Given the description of an element on the screen output the (x, y) to click on. 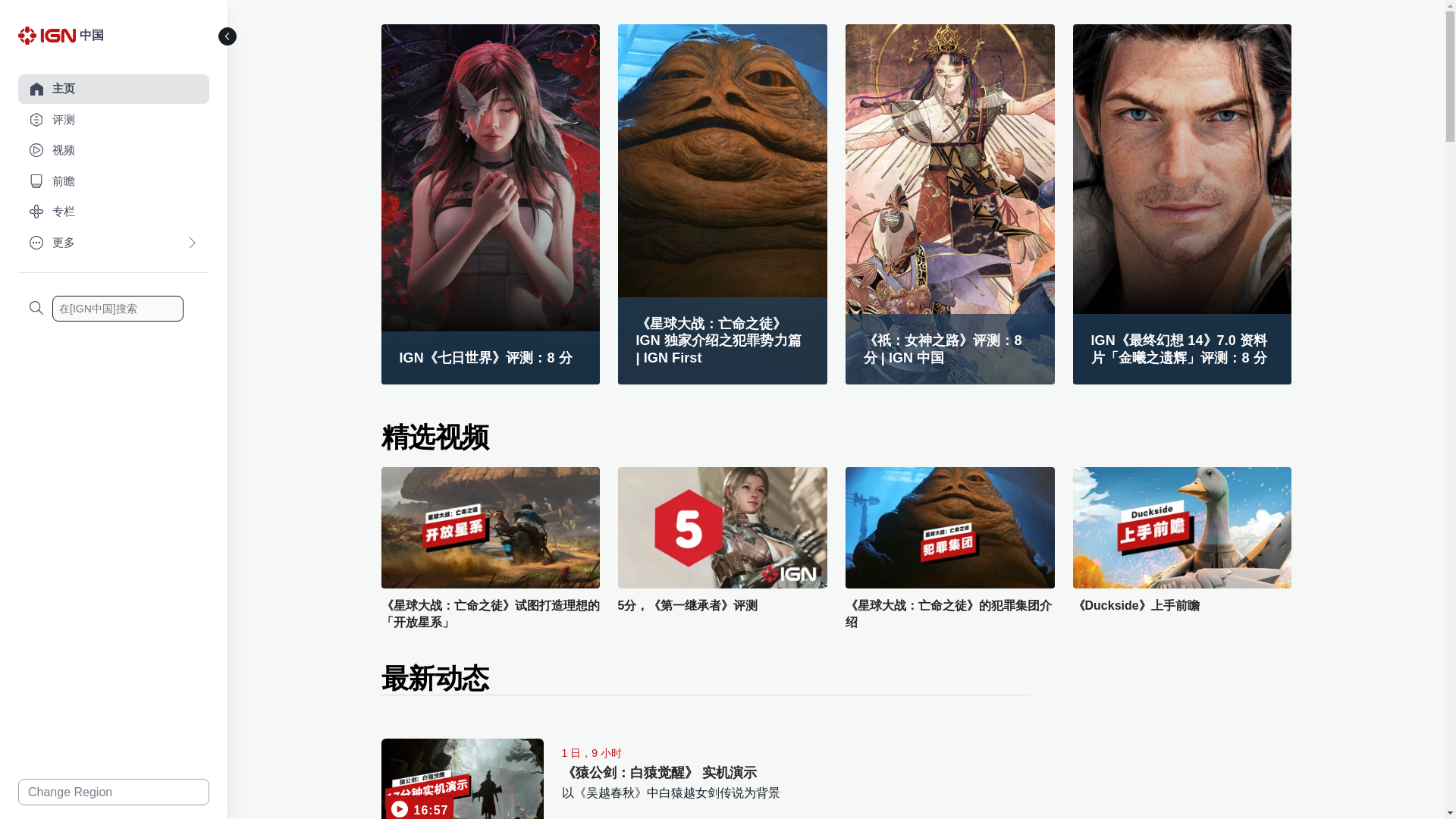
IGN Logo (48, 39)
IGN Logo (46, 34)
Toggle Sidebar (226, 36)
